Given the description of an element on the screen output the (x, y) to click on. 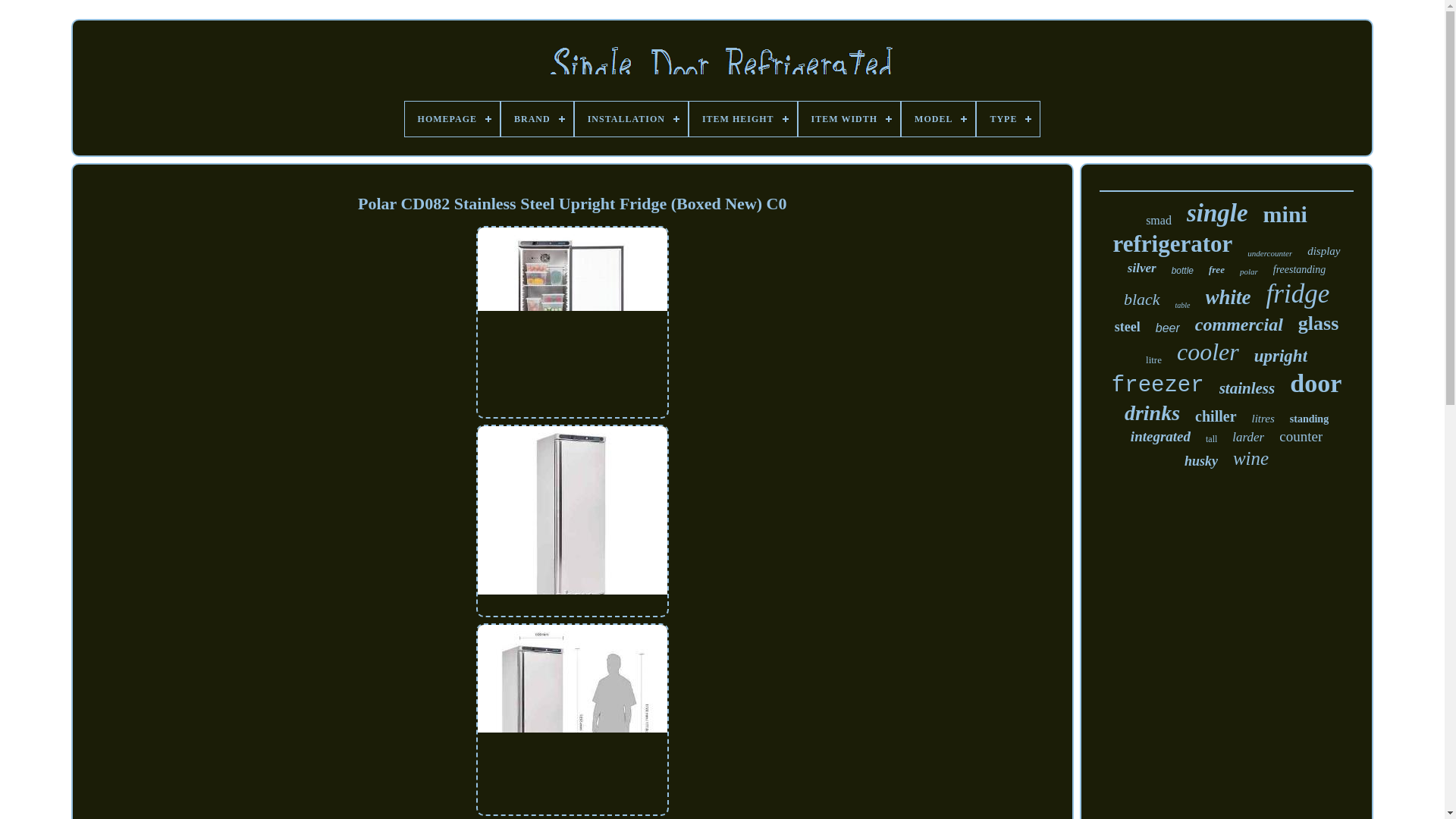
BRAND (536, 118)
INSTALLATION (631, 118)
HOMEPAGE (451, 118)
